Given the description of an element on the screen output the (x, y) to click on. 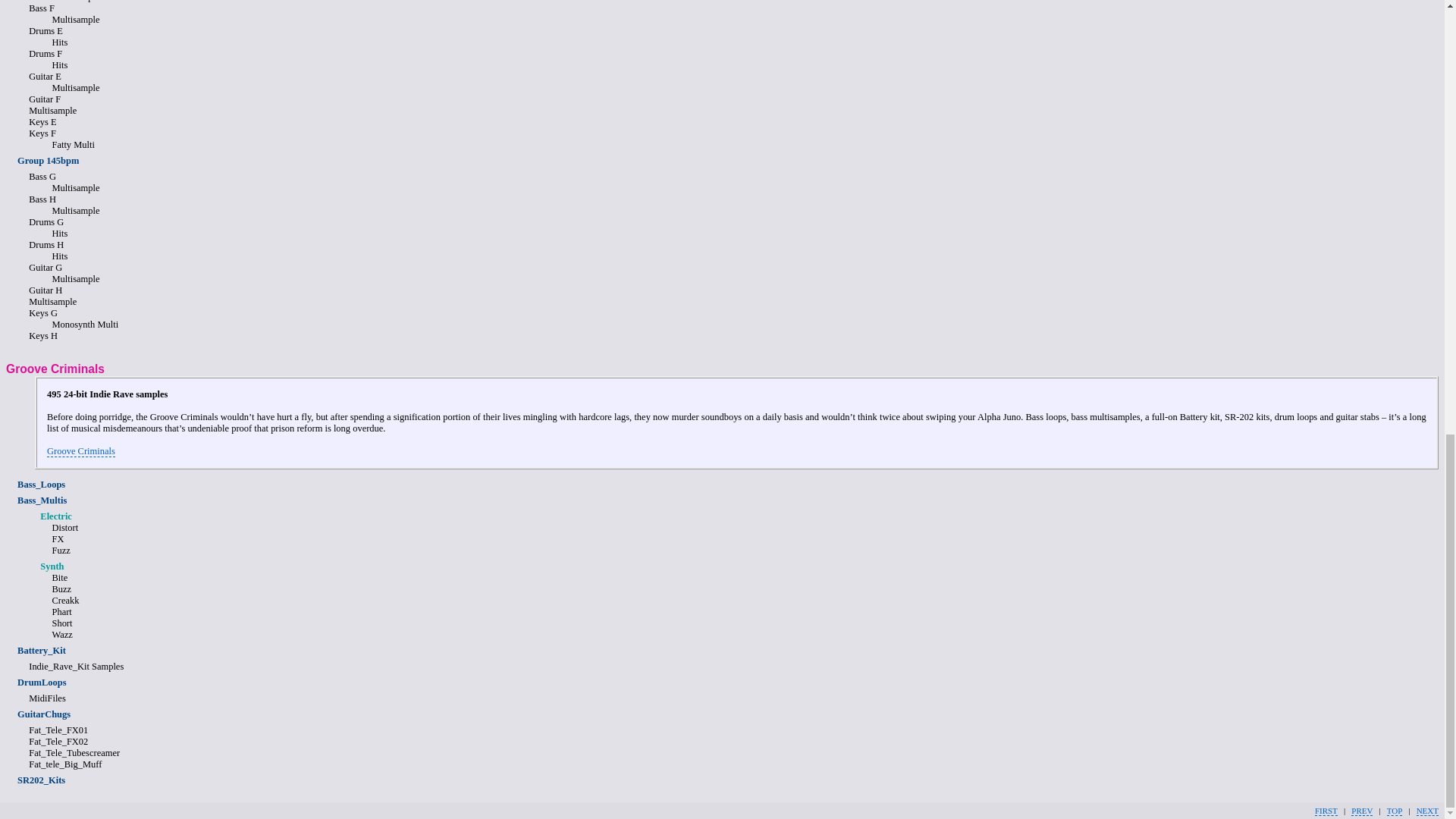
Groove Criminals (80, 451)
PREV (1362, 810)
FIRST (1326, 810)
TOP (1394, 810)
NEXT (1427, 810)
